Given the description of an element on the screen output the (x, y) to click on. 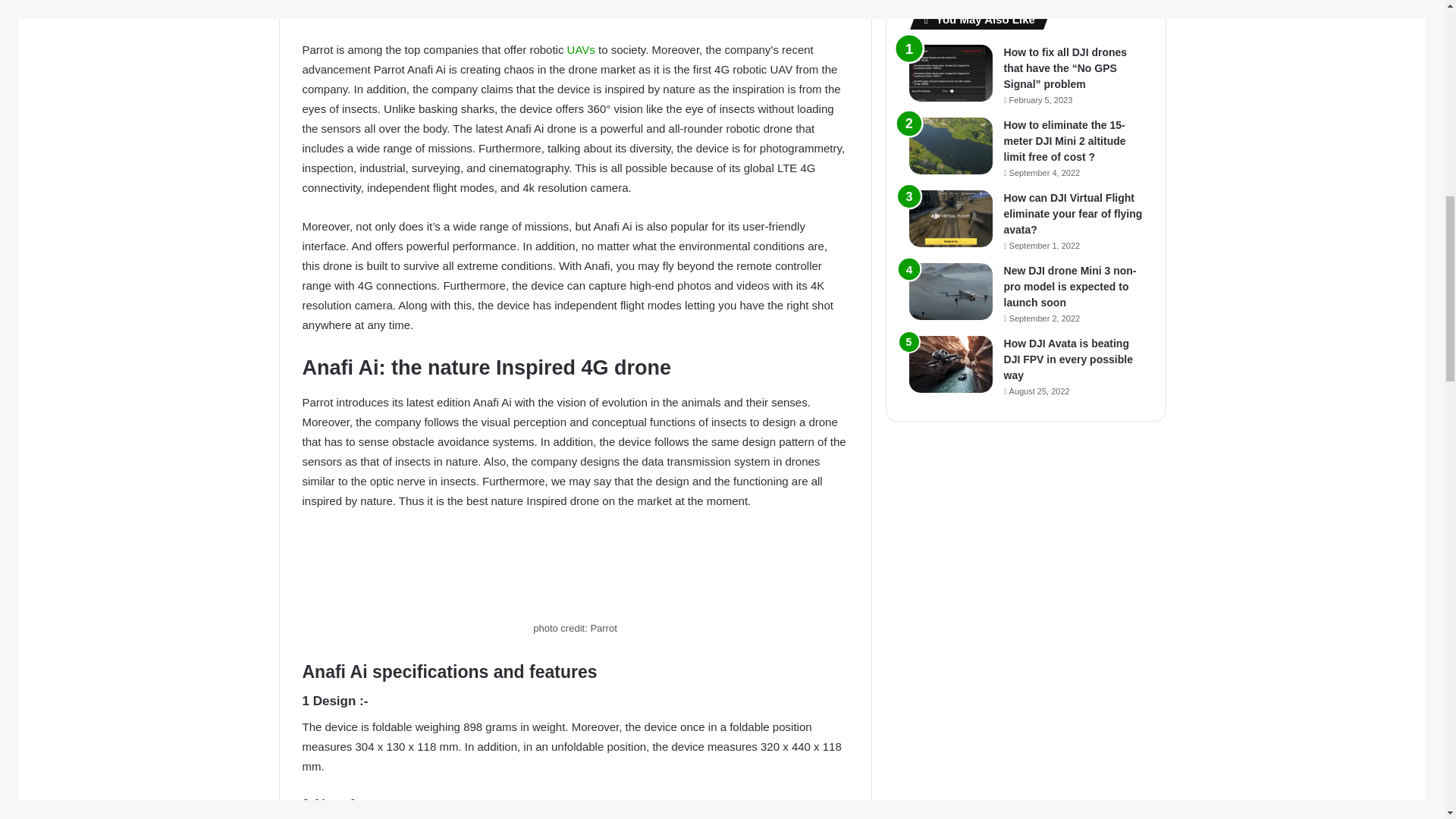
UAVs (581, 49)
